Given the description of an element on the screen output the (x, y) to click on. 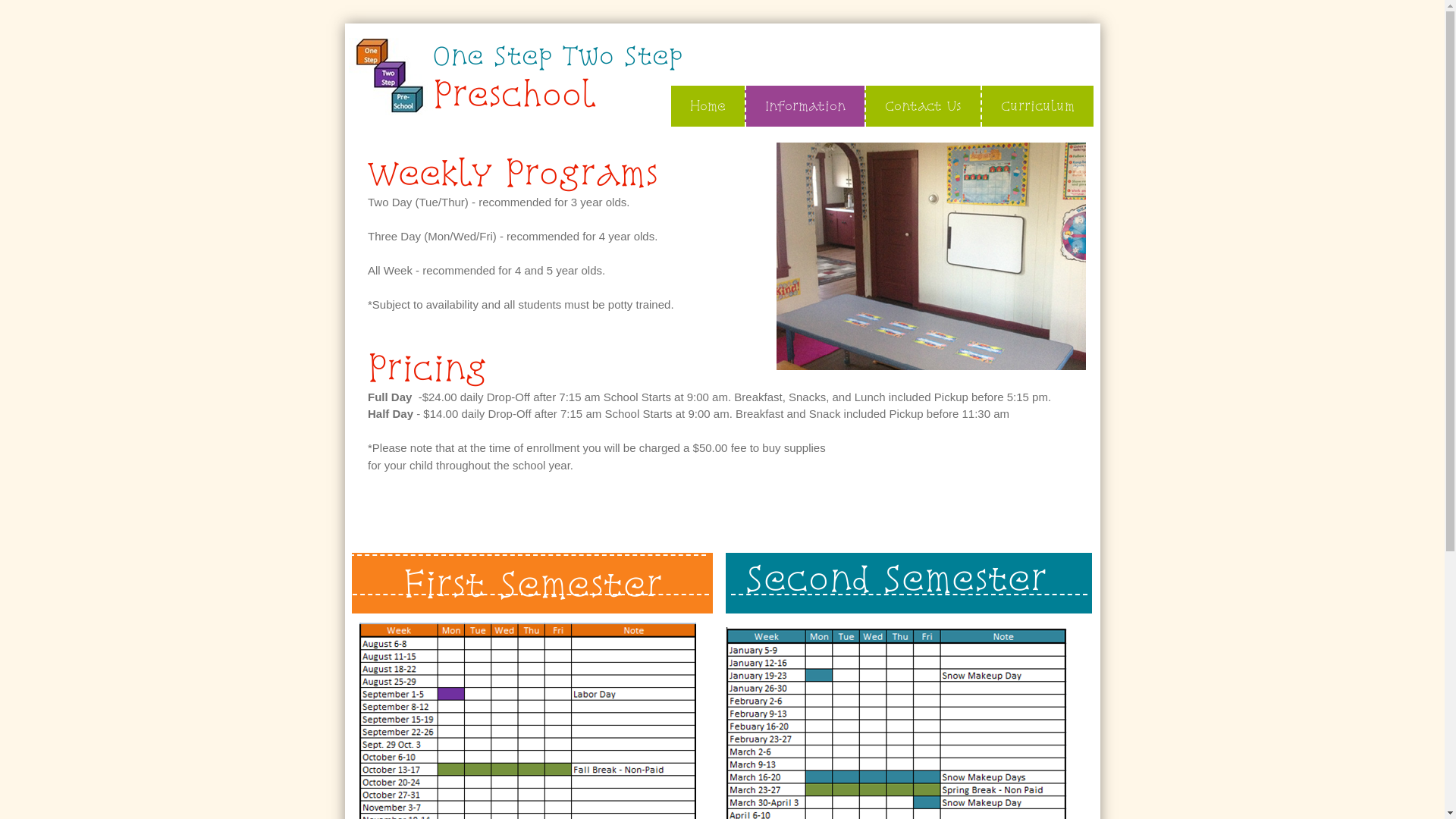
Information Element type: text (804, 105)
Preschool Element type: text (514, 93)
Home Element type: text (706, 105)
Curriculum Element type: text (1035, 105)
Contact Us Element type: text (922, 105)
